Given the description of an element on the screen output the (x, y) to click on. 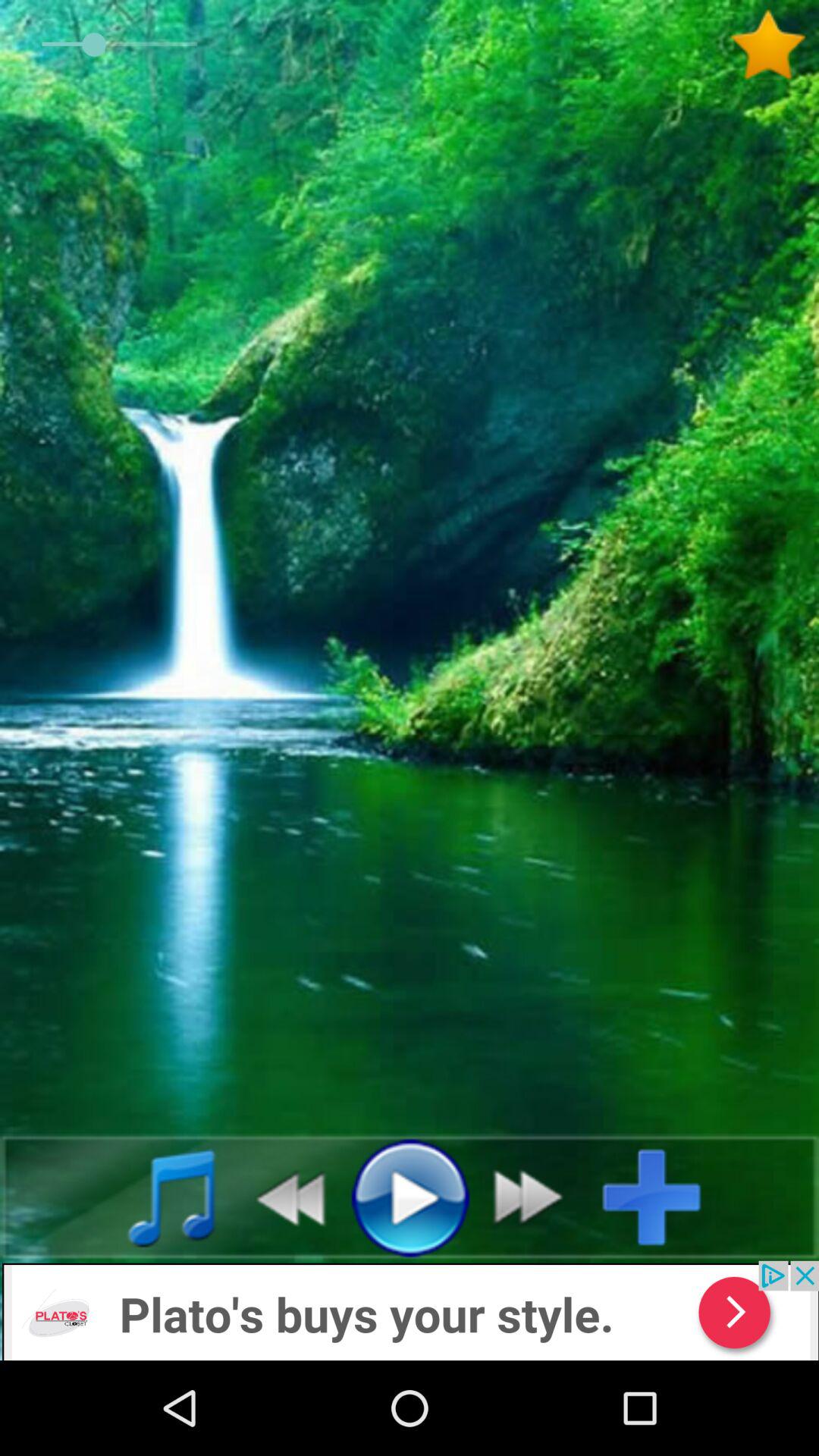
make priority (774, 44)
